Given the description of an element on the screen output the (x, y) to click on. 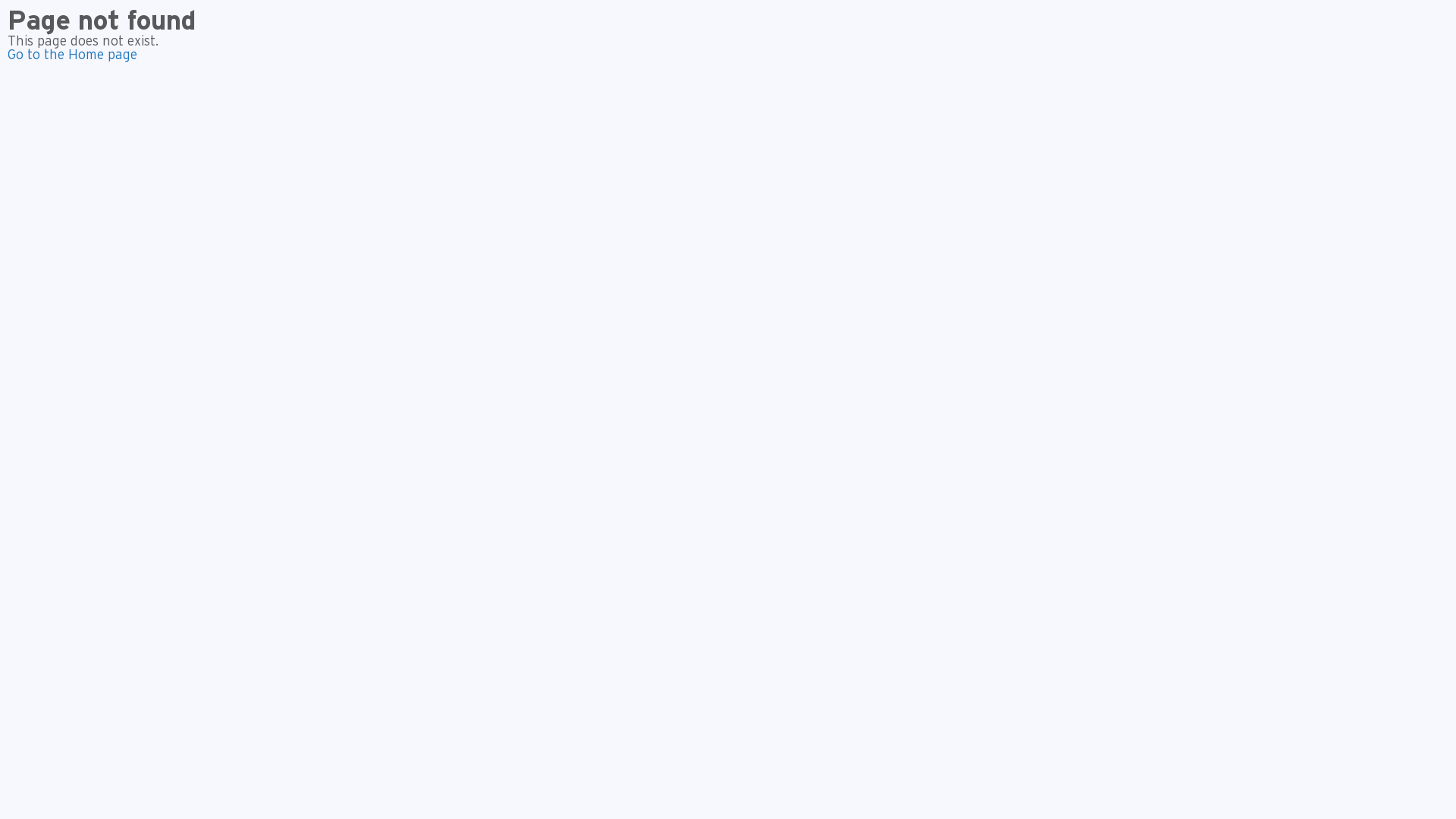
Go to the Home page Element type: text (72, 55)
